Given the description of an element on the screen output the (x, y) to click on. 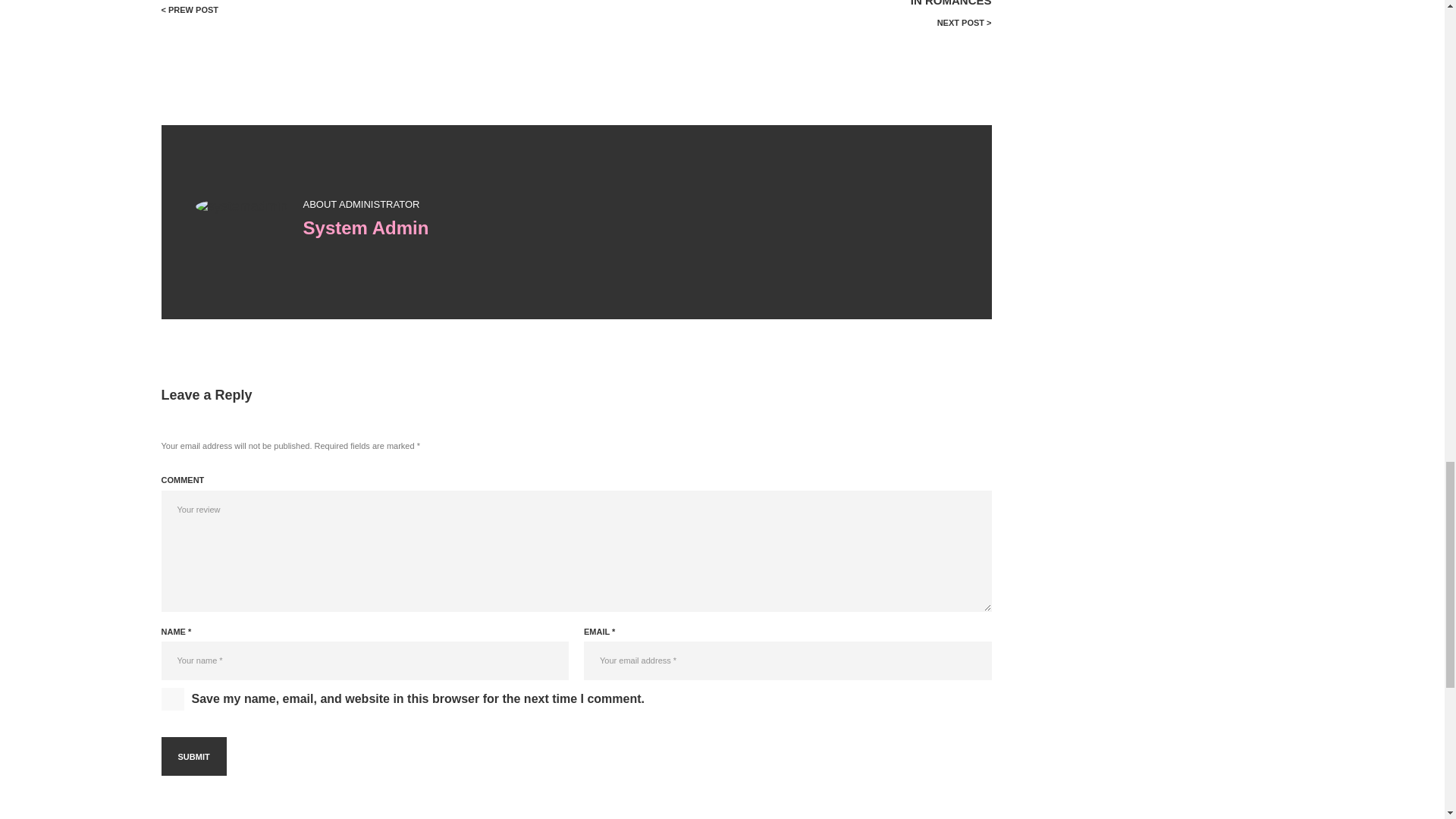
Submit (192, 756)
